Given the description of an element on the screen output the (x, y) to click on. 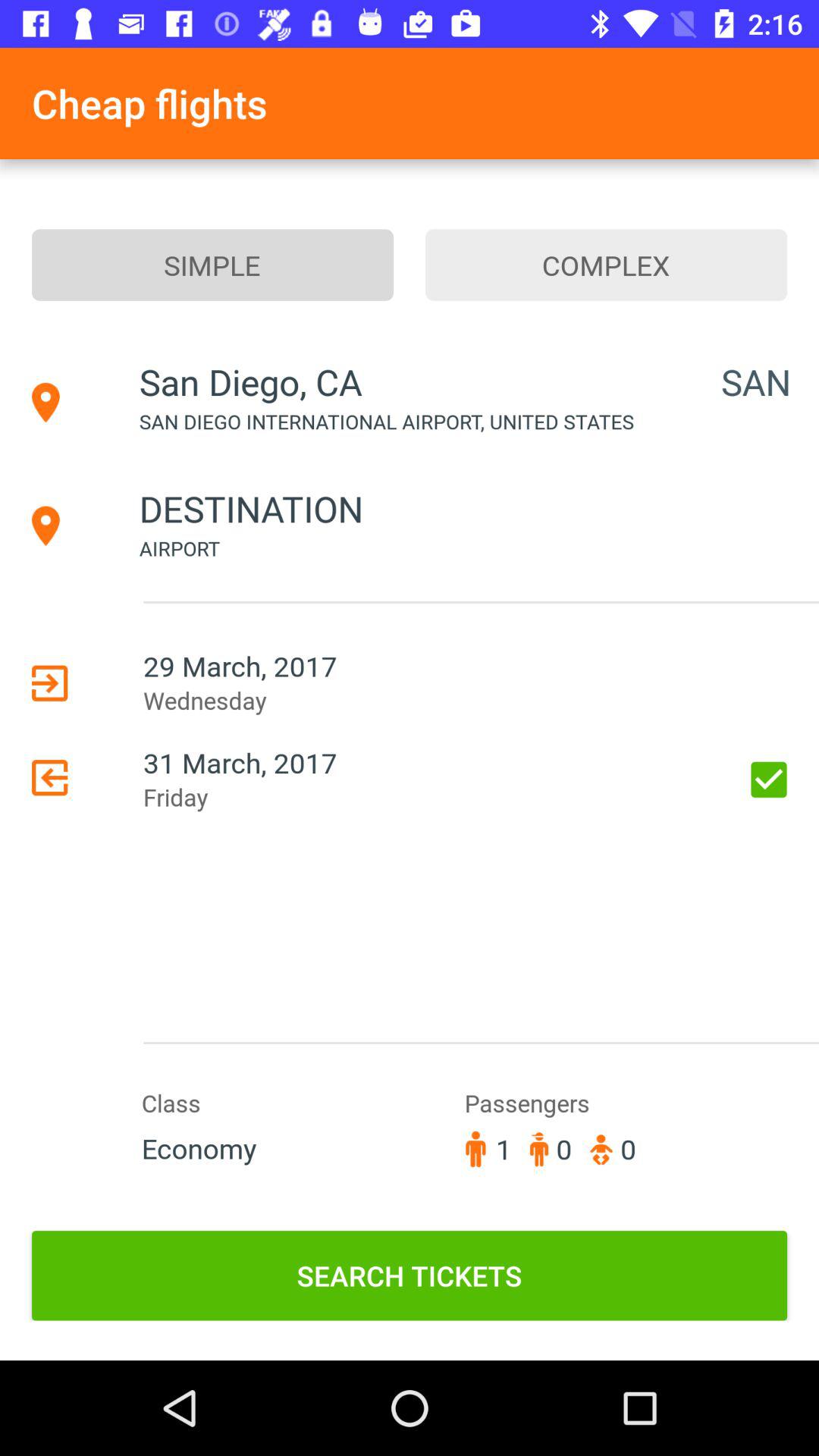
select the item to the left of complex item (212, 264)
